Given the description of an element on the screen output the (x, y) to click on. 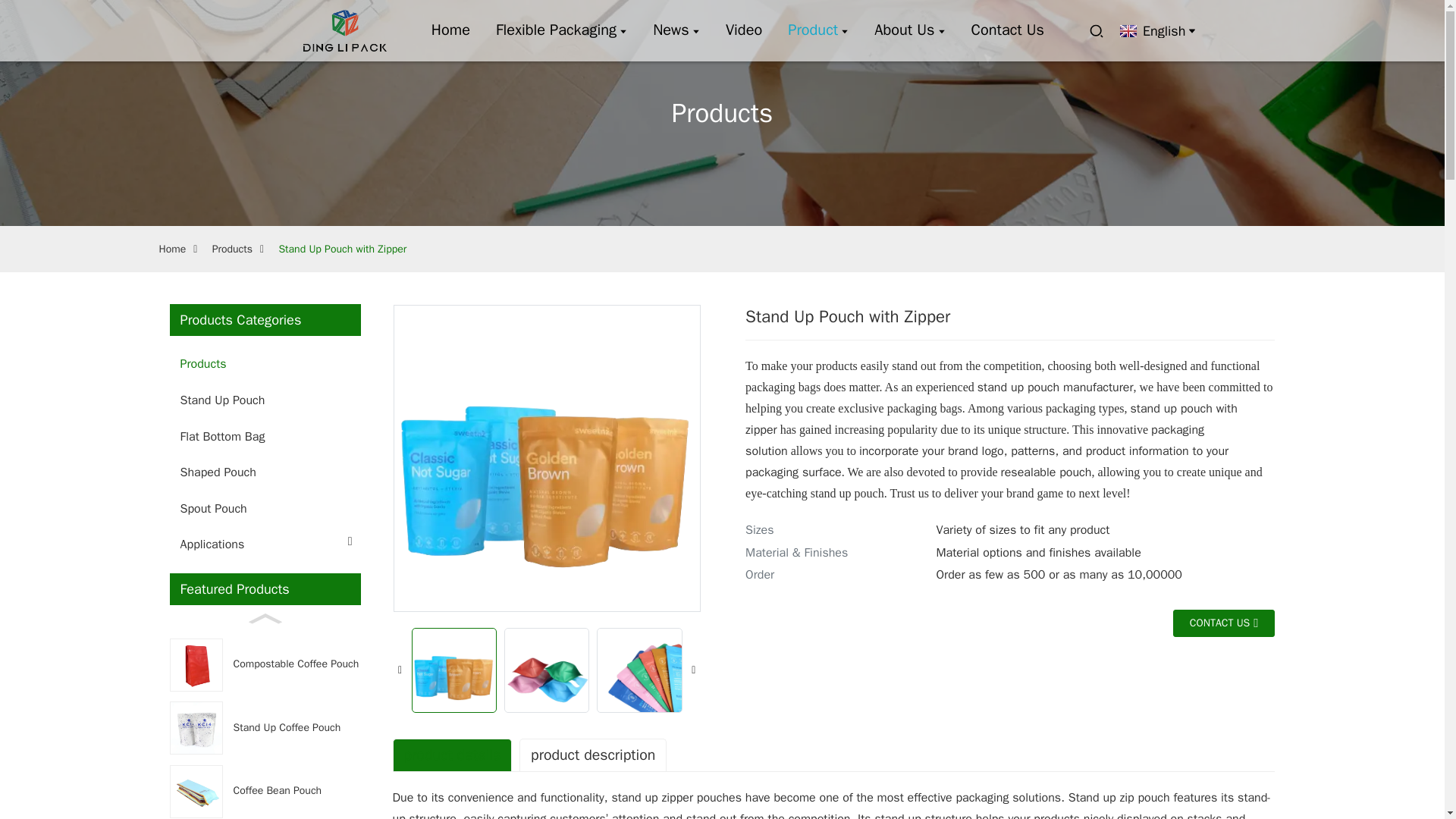
Product (817, 30)
Flexible Packaging (561, 30)
Home (450, 30)
Home (450, 30)
custom-stand-up-pouch (561, 30)
News (676, 30)
